Given the description of an element on the screen output the (x, y) to click on. 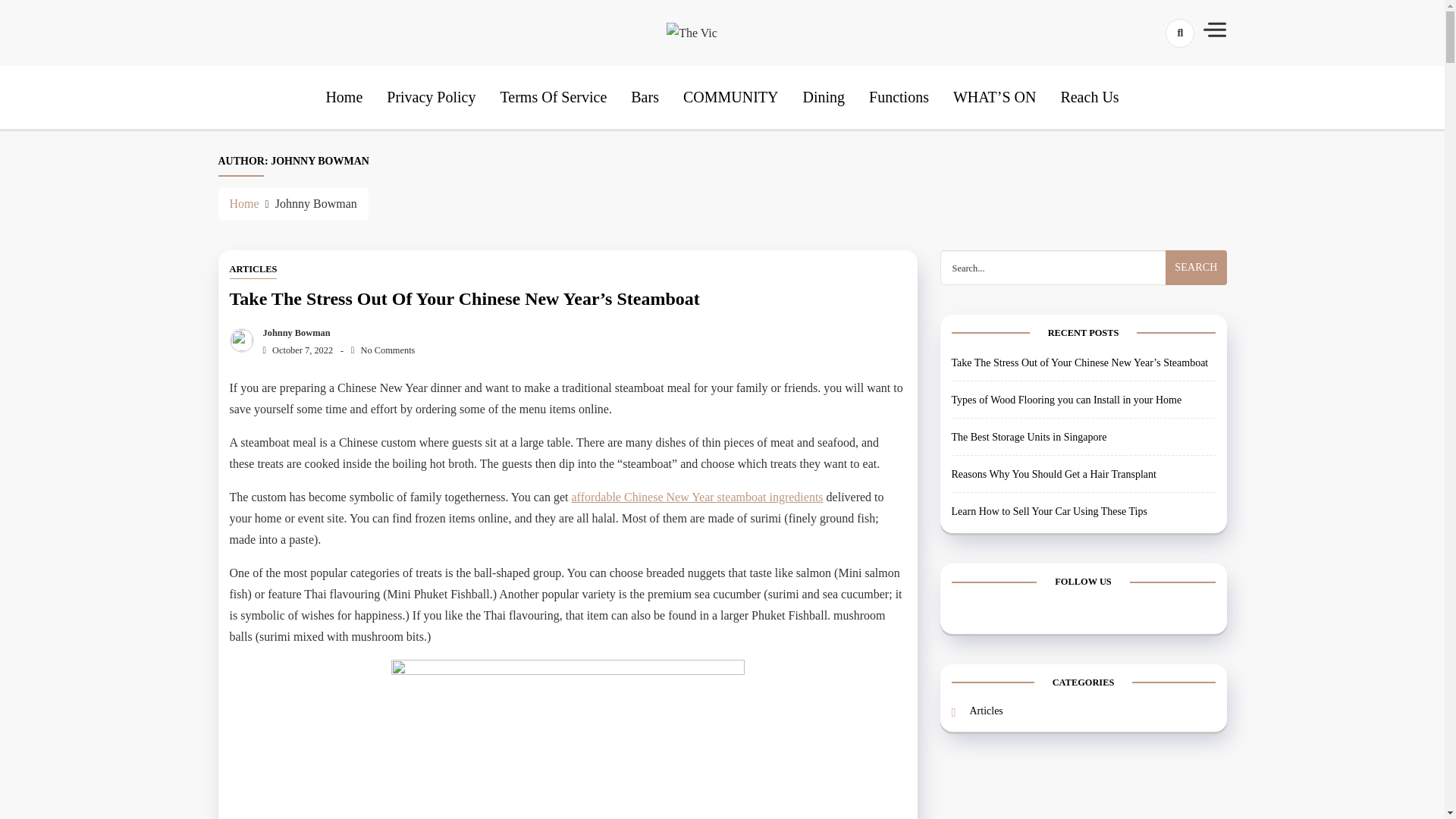
The Vic (736, 80)
Search (1195, 267)
Terms Of Service (553, 97)
Privacy Policy (431, 97)
Reach Us (1088, 97)
No Comments (382, 349)
Search (1152, 86)
ARTICLES (252, 270)
Search (1195, 267)
Johnny Bowman (293, 332)
